Given the description of an element on the screen output the (x, y) to click on. 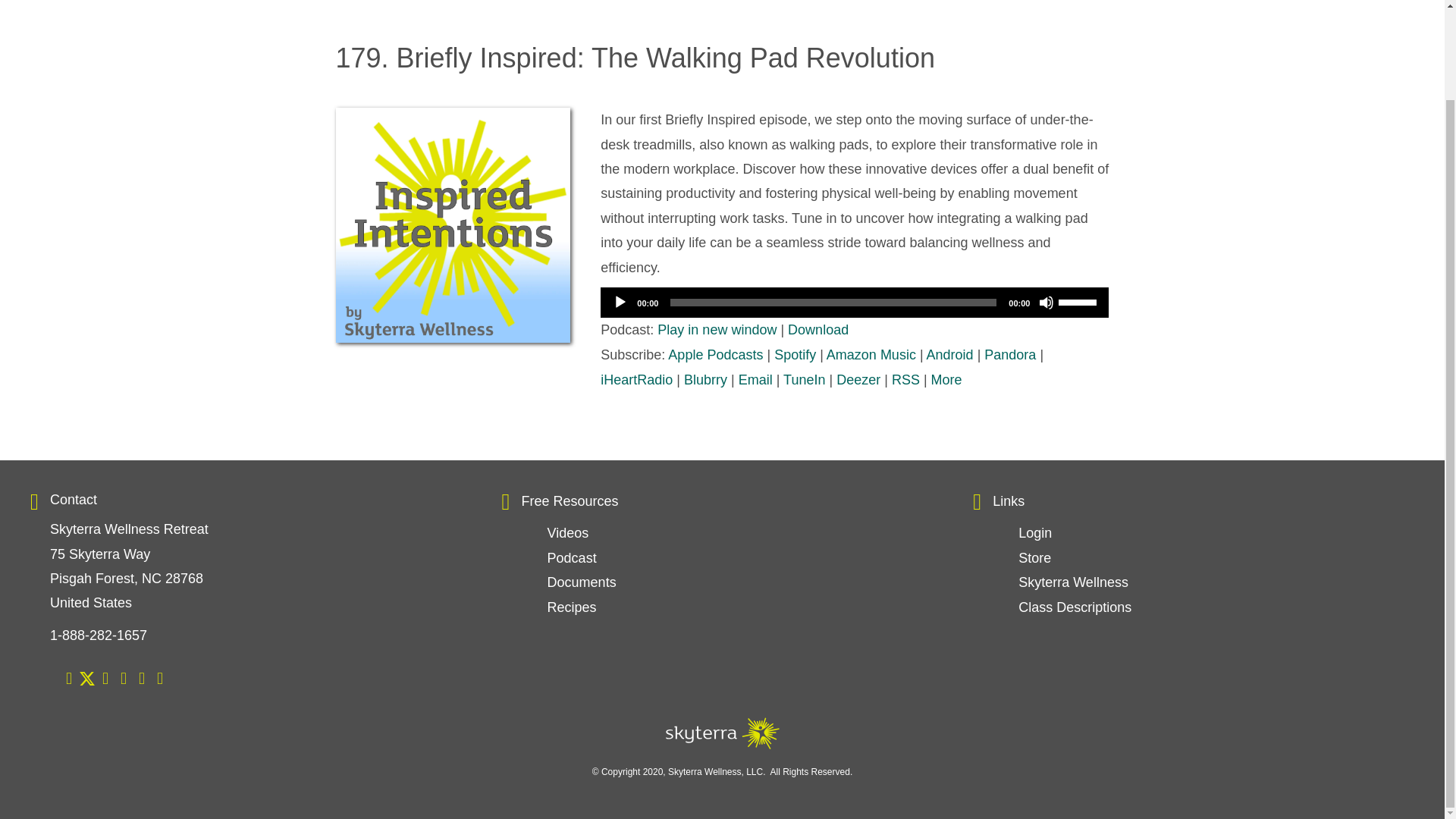
Videos (568, 532)
Spotify (794, 354)
Subscribe on Pandora (1009, 354)
Login (1034, 532)
Pandora (1009, 354)
Subscribe by Email (755, 379)
Android (950, 354)
Subscribe on Android (950, 354)
Subscribe on Deezer (857, 379)
Subscribe on Apple Podcasts (715, 354)
